Given the description of an element on the screen output the (x, y) to click on. 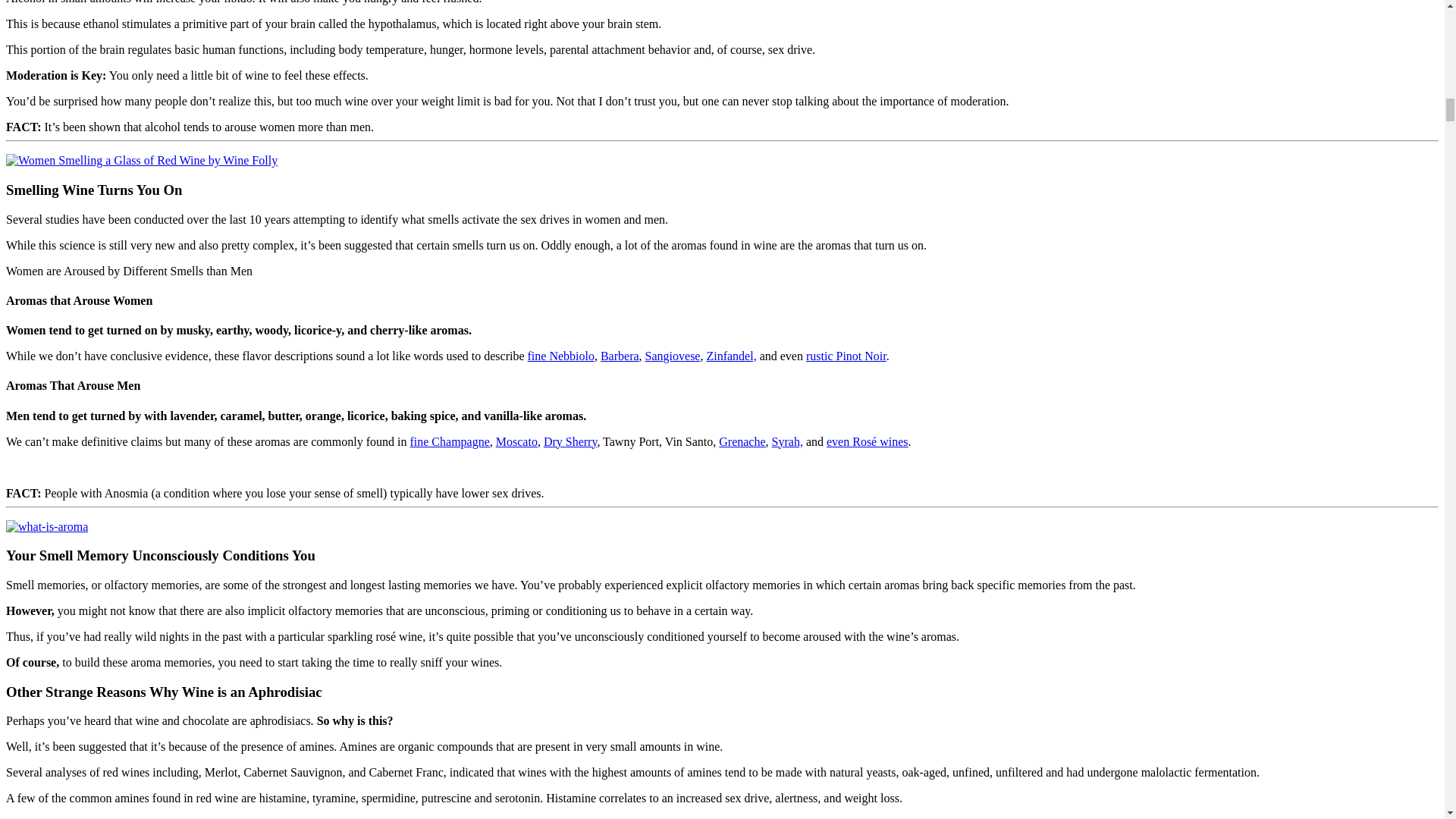
Discover Moscato Wine (516, 440)
Guide to Sangiovese Wine (672, 355)
Amazing Pinot Noir Wine Facts (846, 355)
moderation is key. (875, 818)
Barbera (619, 355)
Sherry: The Dry Wine That Everyone Should Love (569, 440)
Zinfandel, (730, 355)
Guide to Barbera Wine (619, 355)
Essential Guide to Grenache Wine (742, 440)
The Difference Between Barolo vs. Barbaresco (560, 355)
Champagne Wine Region: Getting Started (449, 440)
Sangiovese (672, 355)
Guide to Zinfandel Wine (730, 355)
Dry Sherry (569, 440)
The Secrets to Syrah Wine (787, 440)
